Given the description of an element on the screen output the (x, y) to click on. 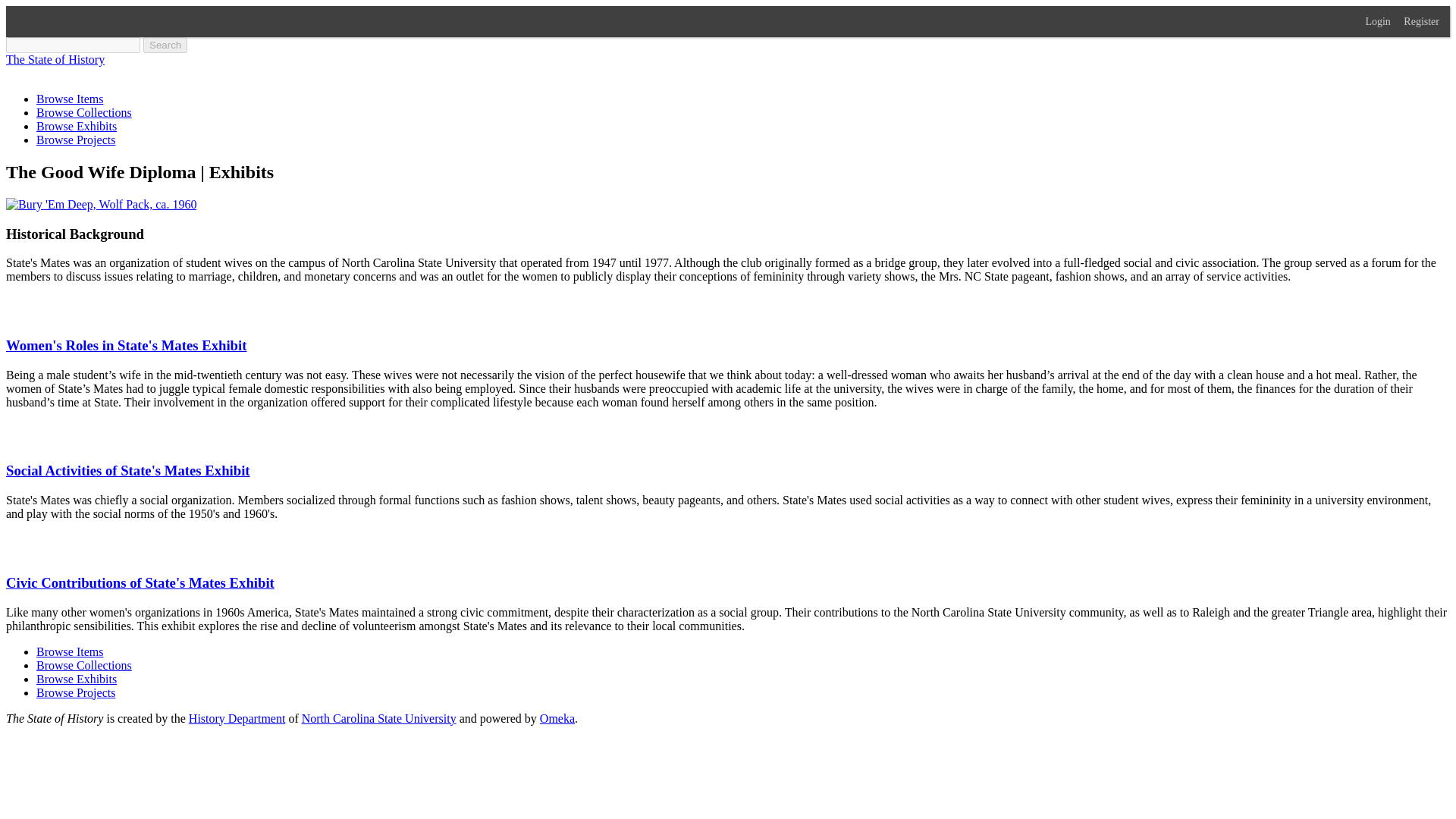
Browse Projects (75, 692)
Search (164, 44)
The State of History (54, 59)
Browse Exhibits (76, 678)
Browse Exhibits (76, 125)
Search (72, 44)
Browse Projects (75, 139)
Browse Items (69, 98)
Browse Collections (84, 665)
Social Activities of State's Mates Exhibit (127, 470)
Login (1382, 21)
Browse Items (69, 651)
Browse Collections (84, 112)
Women's Roles in State's Mates Exhibit (125, 344)
Civic Contributions of State's Mates Exhibit (140, 582)
